Given the description of an element on the screen output the (x, y) to click on. 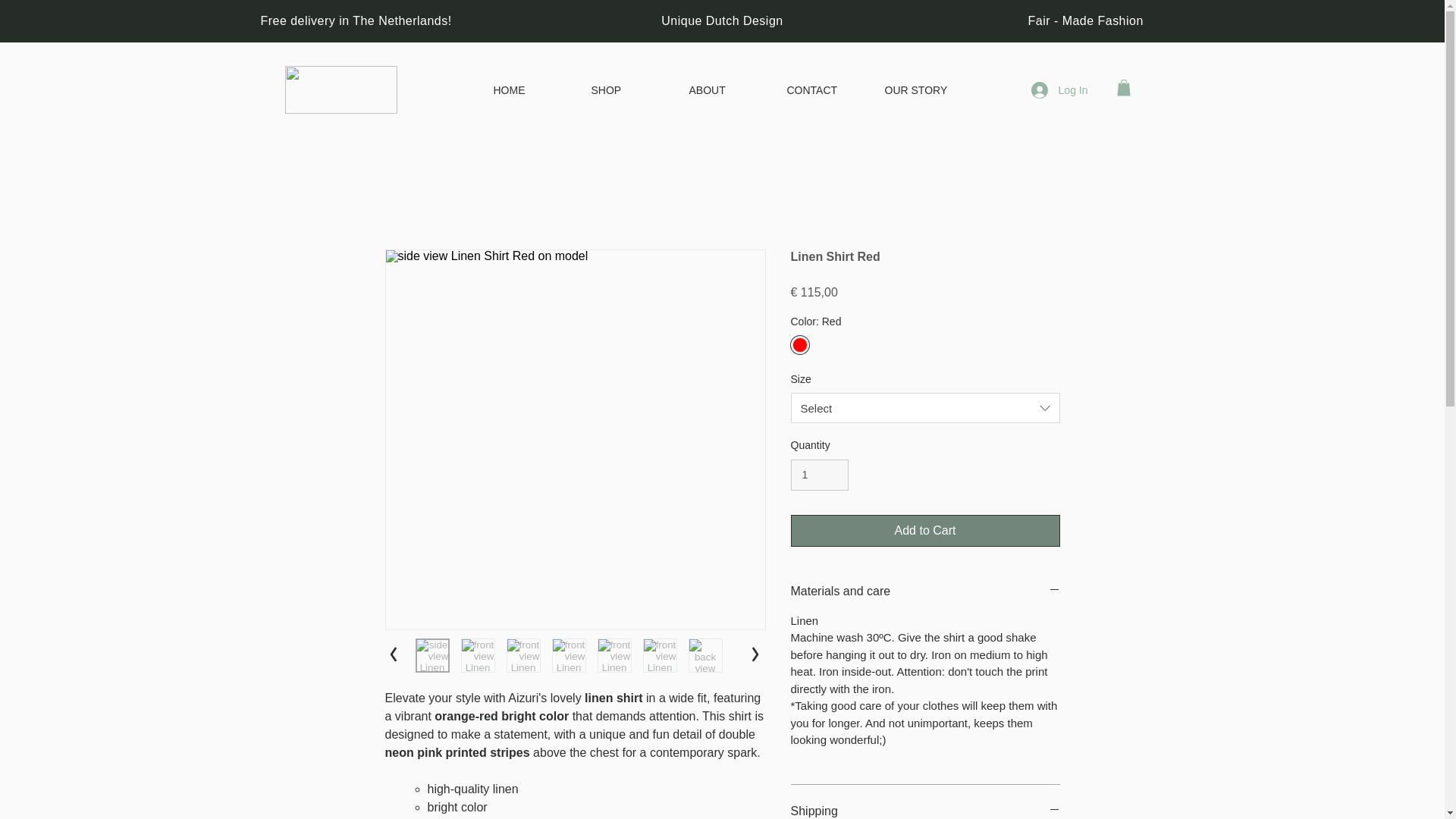
Log In (1059, 89)
OUR STORY (922, 89)
1 (818, 474)
SHOP (628, 89)
Add to Cart (924, 531)
logo voor web shop.png (341, 89)
Select (924, 408)
Materials and care (924, 591)
CONTACT (823, 89)
HOME (530, 89)
ABOUT (727, 89)
Shipping (924, 811)
